Given the description of an element on the screen output the (x, y) to click on. 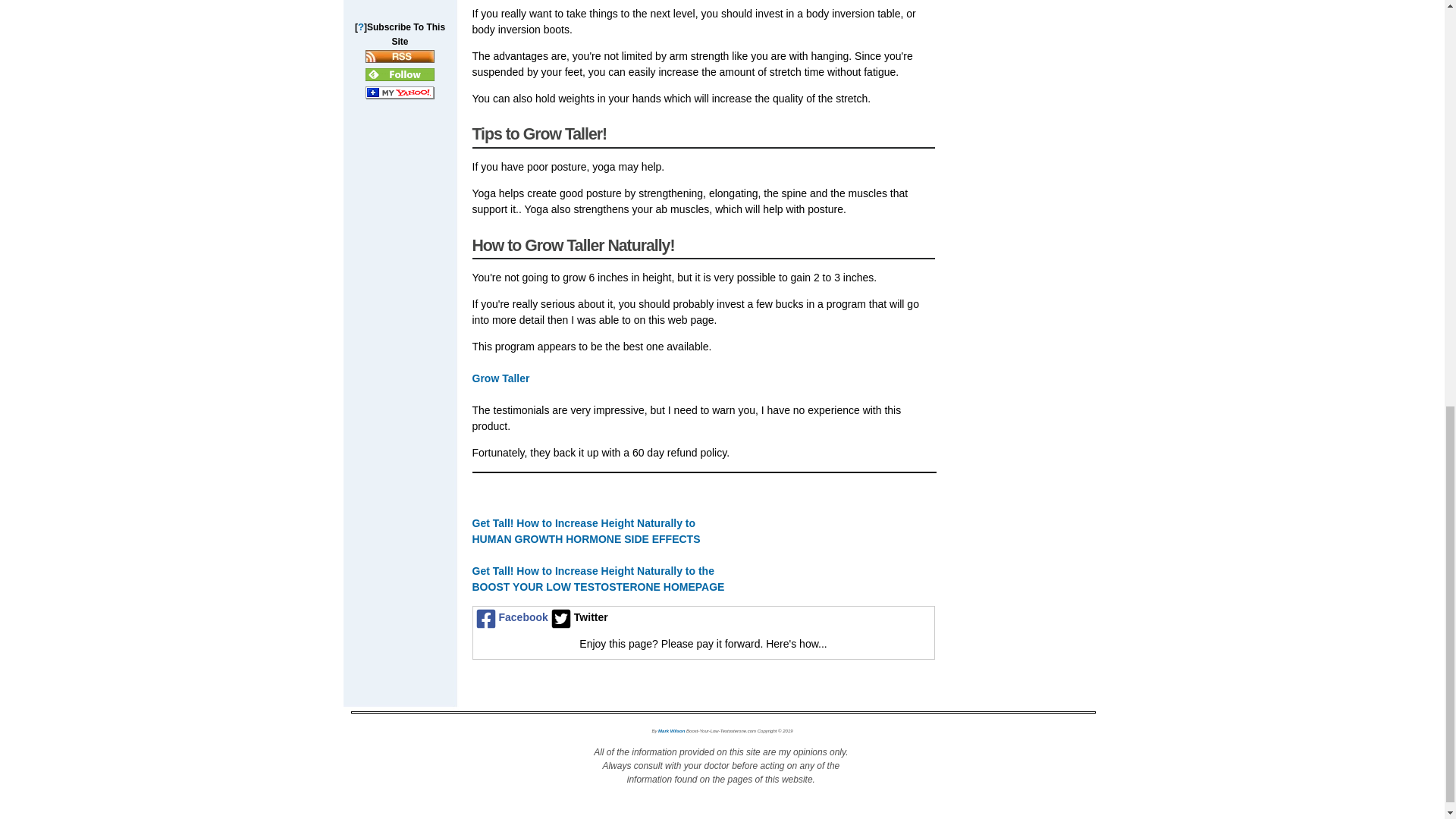
Grow Taller (500, 378)
Mark Wilson (671, 728)
Facebook (510, 617)
Twitter (578, 617)
